Given the description of an element on the screen output the (x, y) to click on. 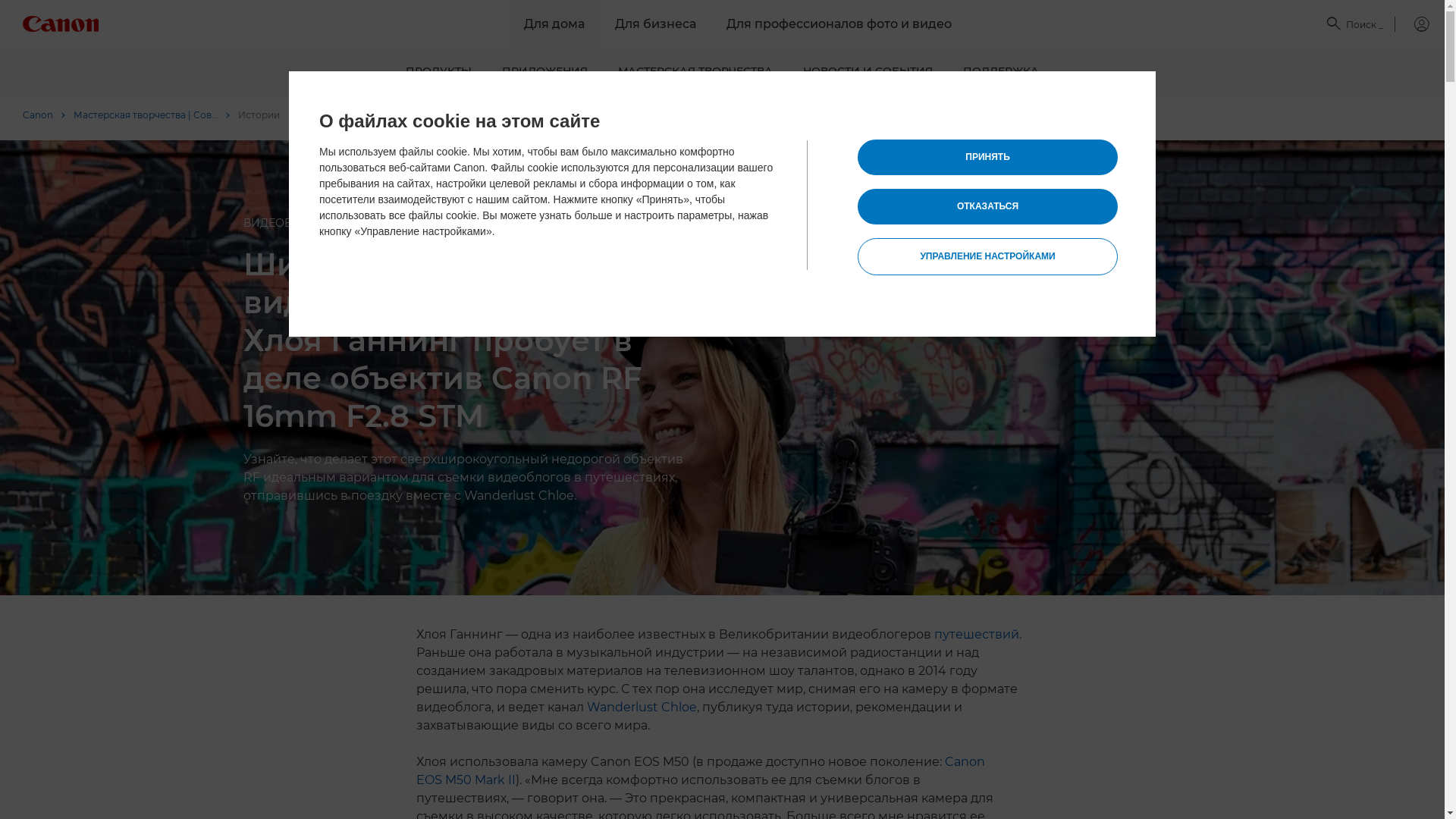
Wanderlust Chloe Element type: text (641, 706)
Canon Logo Element type: text (60, 23)
Canon EOS M50 Mark II Element type: text (700, 770)
Canon Element type: text (43, 114)
My Canon Element type: text (1411, 23)
